Given the description of an element on the screen output the (x, y) to click on. 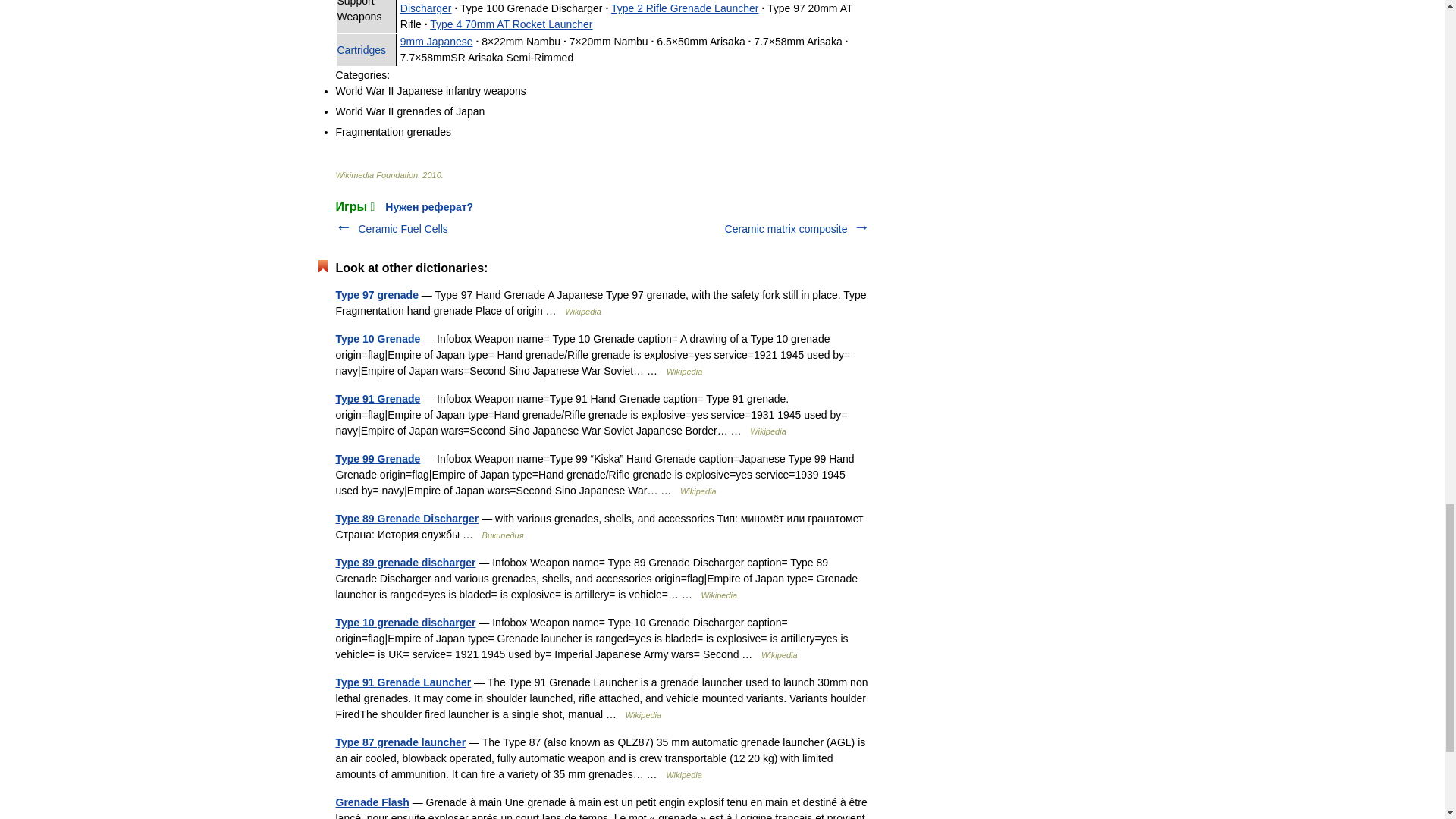
Ceramic matrix composite (786, 228)
Ceramic Fuel Cells (402, 228)
